Given the description of an element on the screen output the (x, y) to click on. 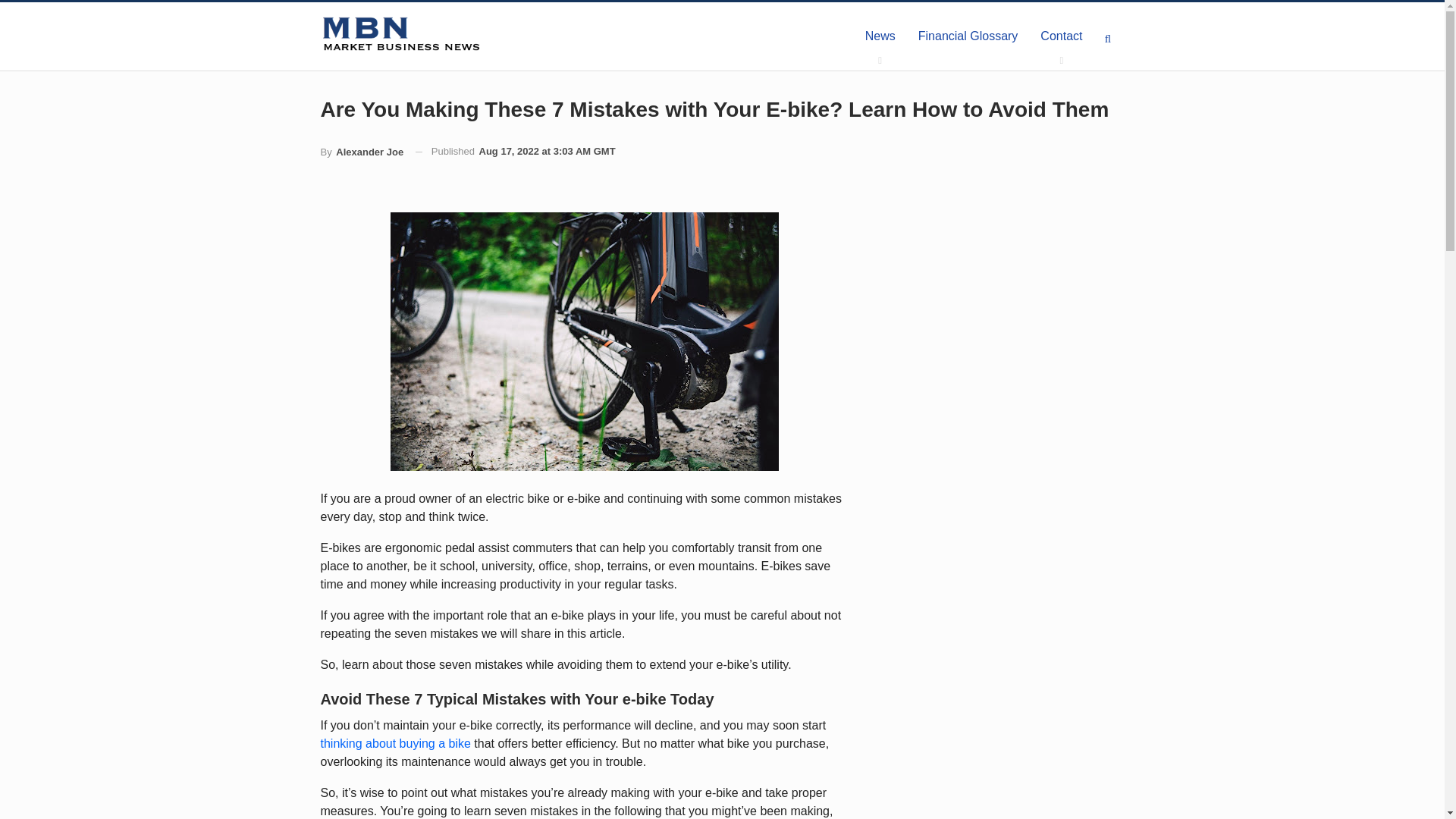
thinking about buying a bike (395, 743)
Browse Author Articles (361, 152)
By Alexander Joe (361, 152)
Financial Glossary (968, 36)
Contact (1061, 36)
